Given the description of an element on the screen output the (x, y) to click on. 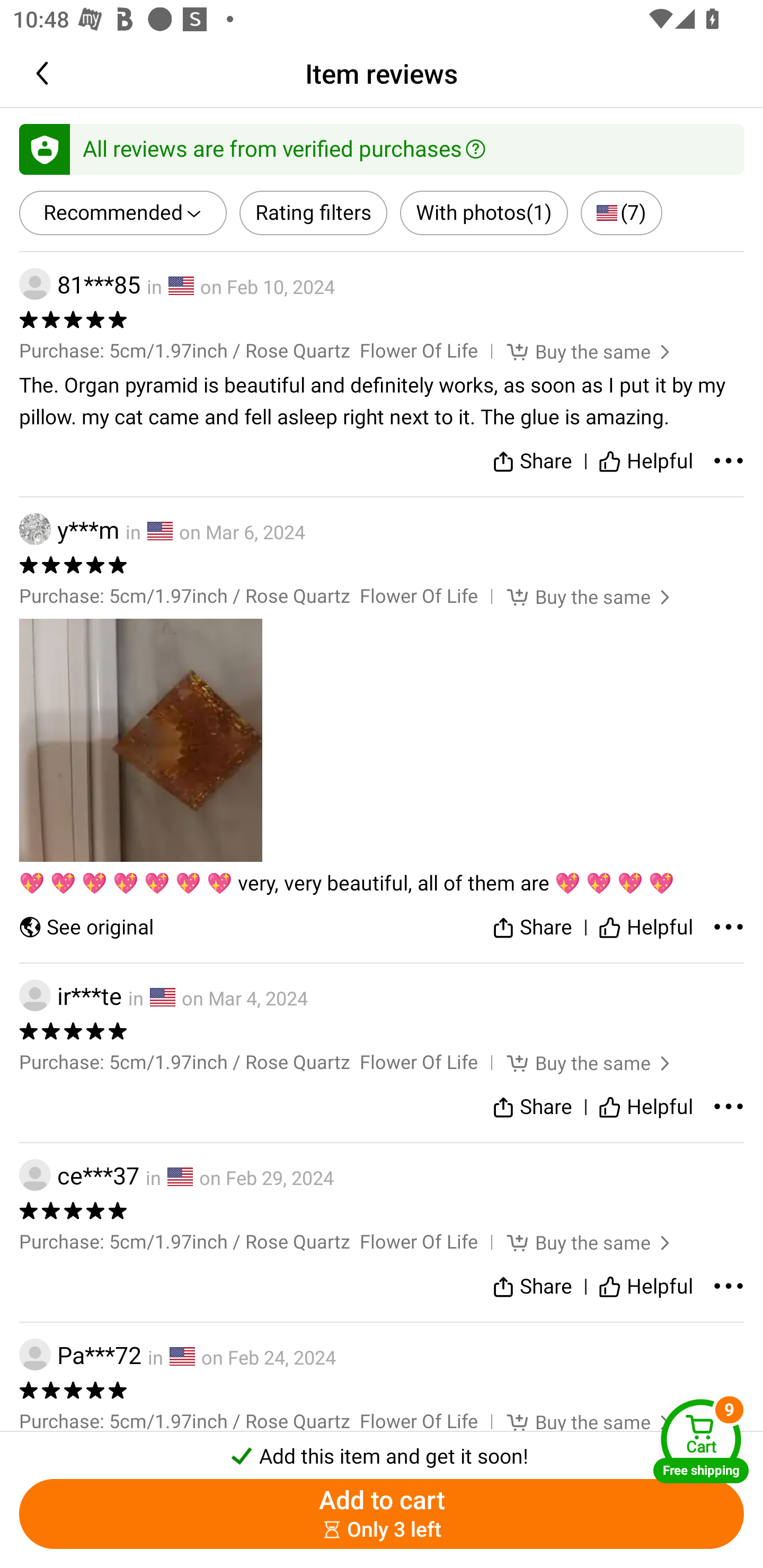
Item reviews (381, 72)
All reviews are from verified purchases  (381, 148)
Recommended (122, 213)
Rating filters (313, 213)
With photos(1) (483, 213)
(7) (621, 213)
81***85 (79, 284)
   Buy the same   (576, 350)
  Share (532, 461)
  Helpful (645, 461)
y***m (69, 528)
   Buy the same   (576, 596)
  See original (86, 927)
  Share (532, 927)
  Helpful (645, 927)
ir***te (70, 995)
   Buy the same   (576, 1062)
  Share (532, 1106)
  Helpful (645, 1106)
ce***37 (79, 1174)
   Buy the same   (576, 1241)
  Share (532, 1286)
  Helpful (645, 1286)
Pa***72 (80, 1354)
Cart Free shipping Cart (701, 1440)
   Buy the same   (576, 1421)
￼￼Add this item and get it soon!  (381, 1450)
Add to cart ￼￼Only 3 left (381, 1513)
